Given the description of an element on the screen output the (x, y) to click on. 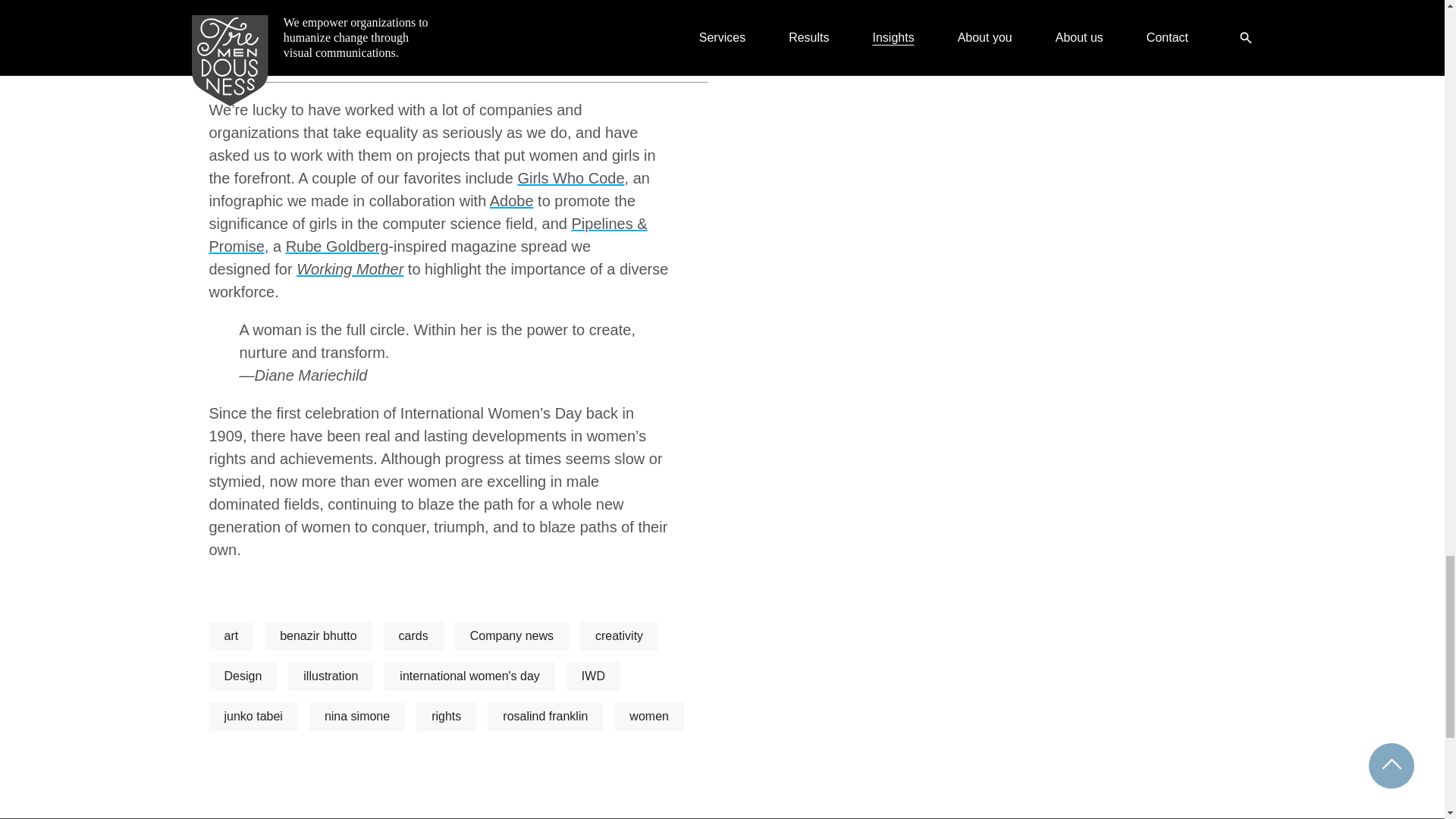
illustration (330, 676)
creativity (618, 635)
Design (243, 676)
benazir bhutto (317, 635)
Adobe (511, 200)
art (231, 635)
Girls Who Code (570, 177)
Working Mother (350, 269)
Rube Goldberg (336, 246)
cards (414, 635)
